Given the description of an element on the screen output the (x, y) to click on. 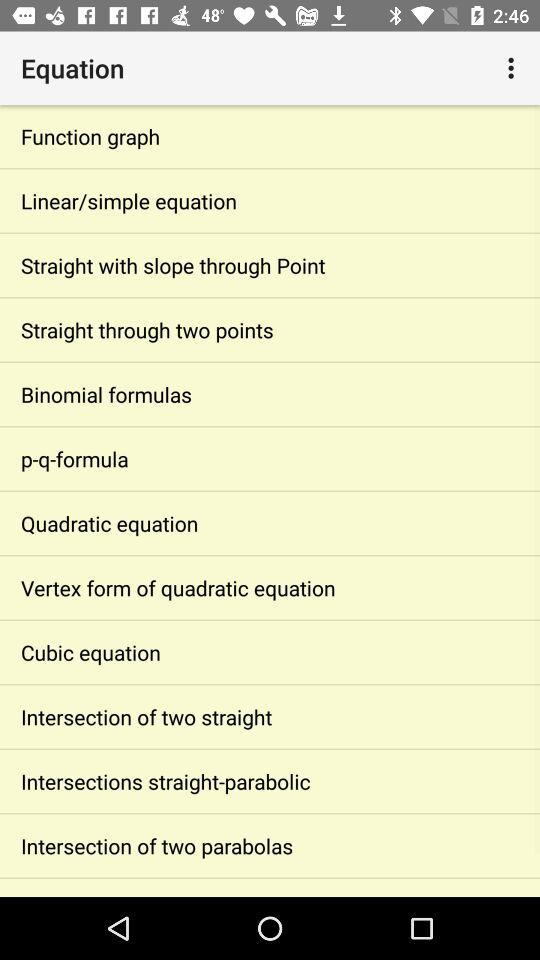
swipe to the function graph icon (270, 136)
